Given the description of an element on the screen output the (x, y) to click on. 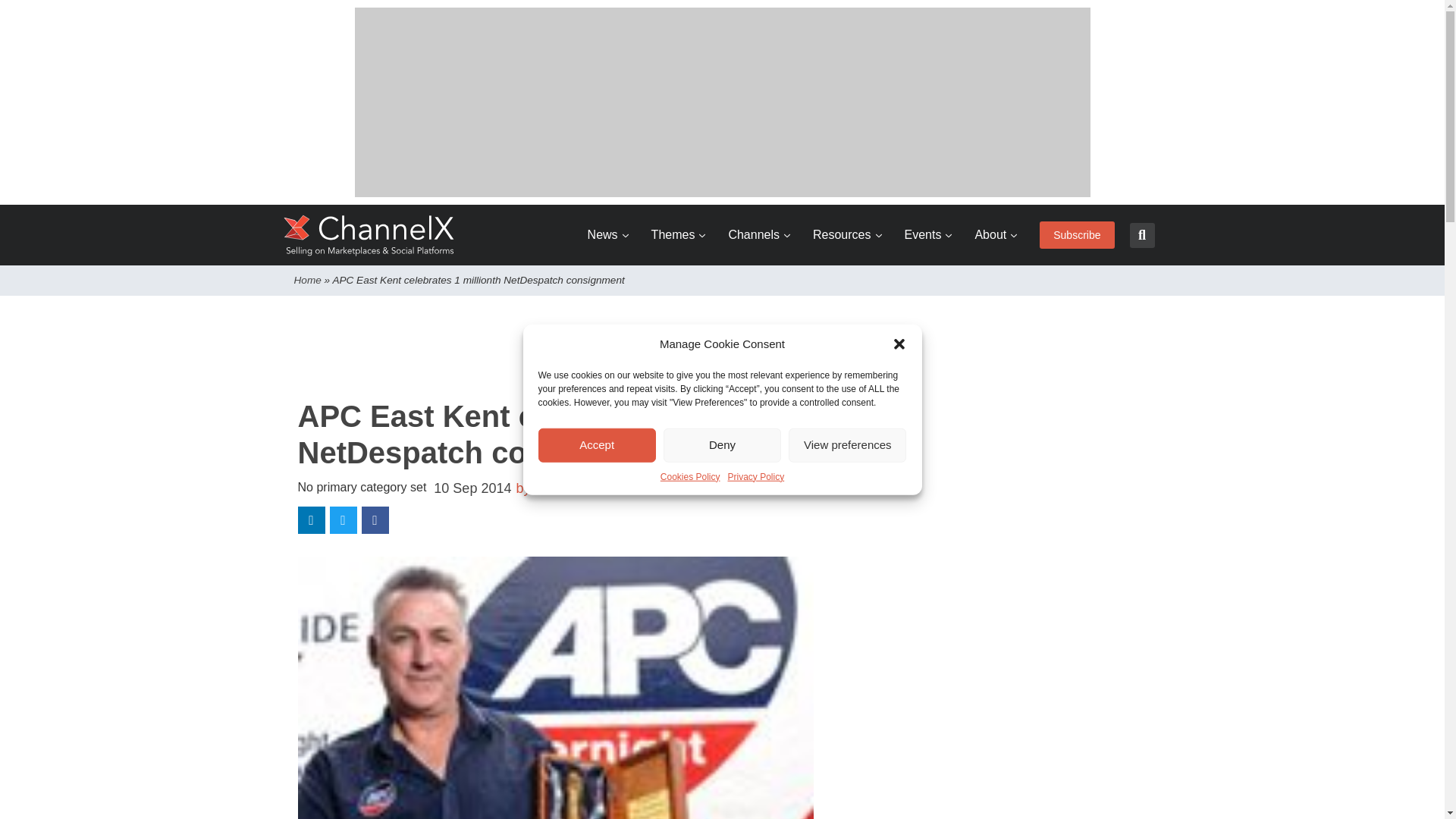
Channels (758, 234)
ChannelX Home Page (369, 234)
Cookies Policy (690, 476)
Deny (721, 444)
View preferences (847, 444)
Accept (597, 444)
Themes (678, 234)
News (607, 234)
Privacy Policy (756, 476)
